Given the description of an element on the screen output the (x, y) to click on. 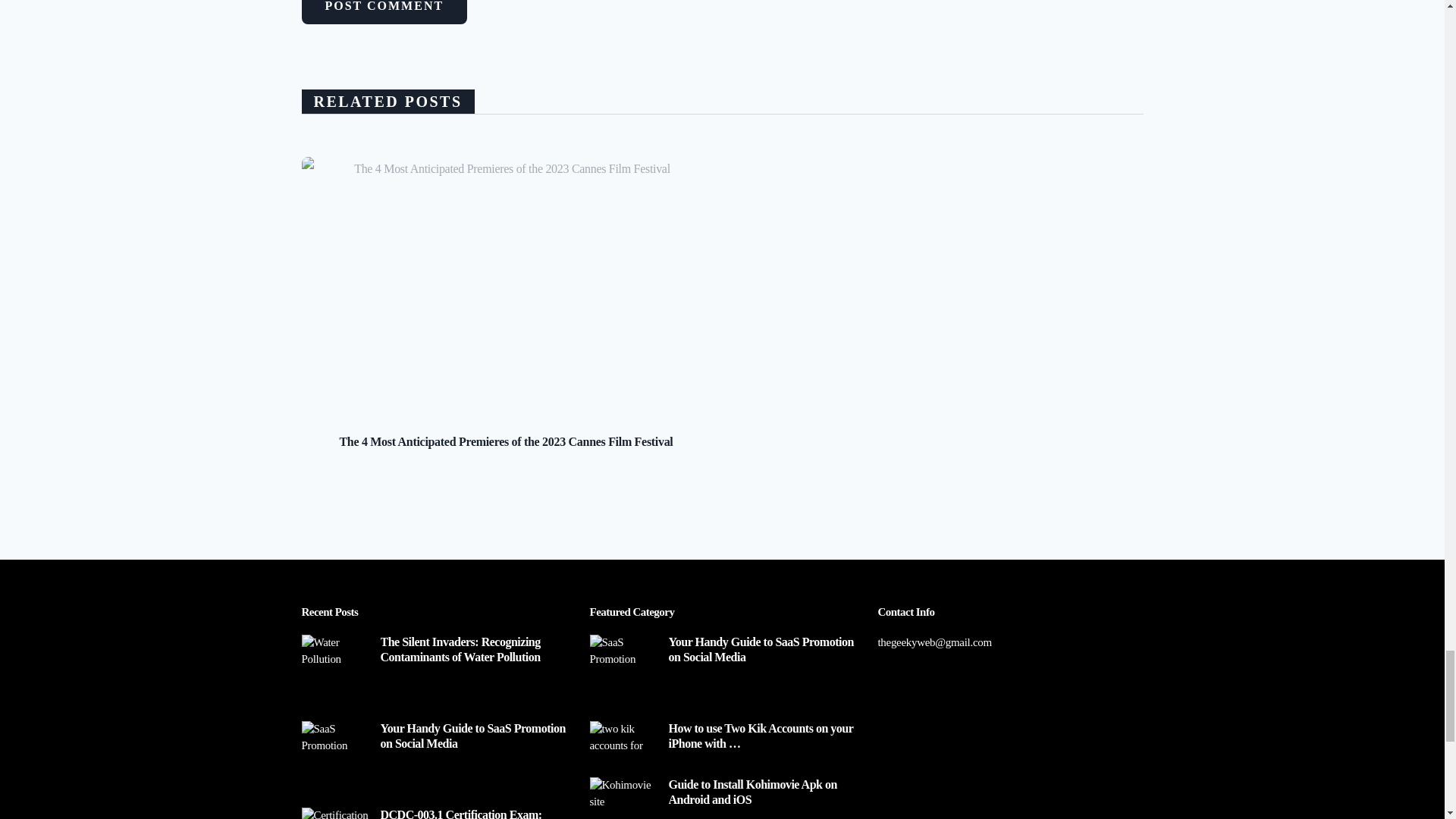
Post Comment (384, 12)
Post Comment (384, 12)
